Given the description of an element on the screen output the (x, y) to click on. 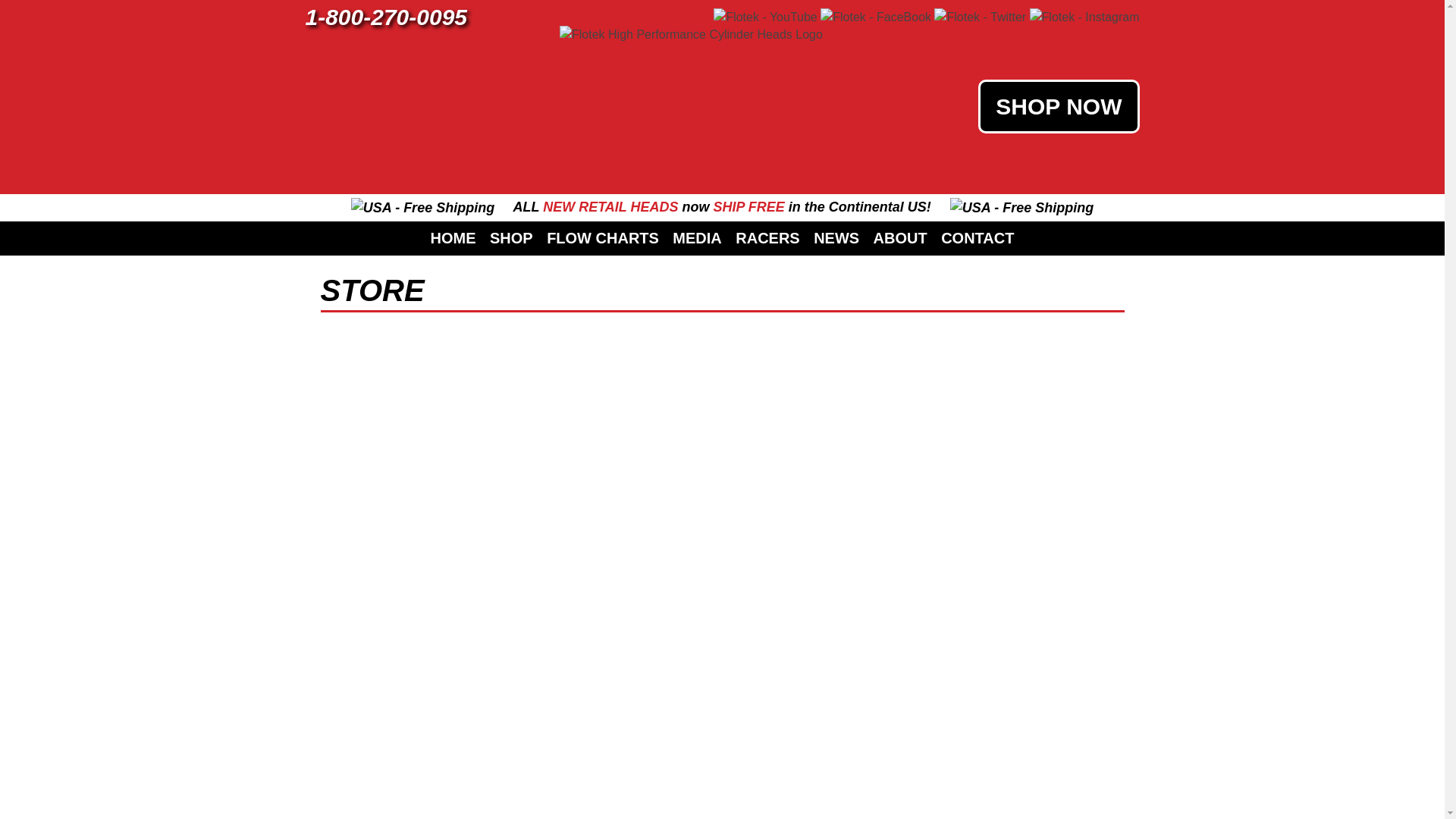
FLOTEK (641, 42)
Flotek - Instagram (1084, 15)
RACERS (767, 237)
ABOUT (900, 237)
HOME (453, 237)
FLOW CHARTS (602, 237)
NEWS (836, 237)
CONTACT (977, 237)
Flotek - Twitter (980, 15)
SHOP (511, 237)
